Given the description of an element on the screen output the (x, y) to click on. 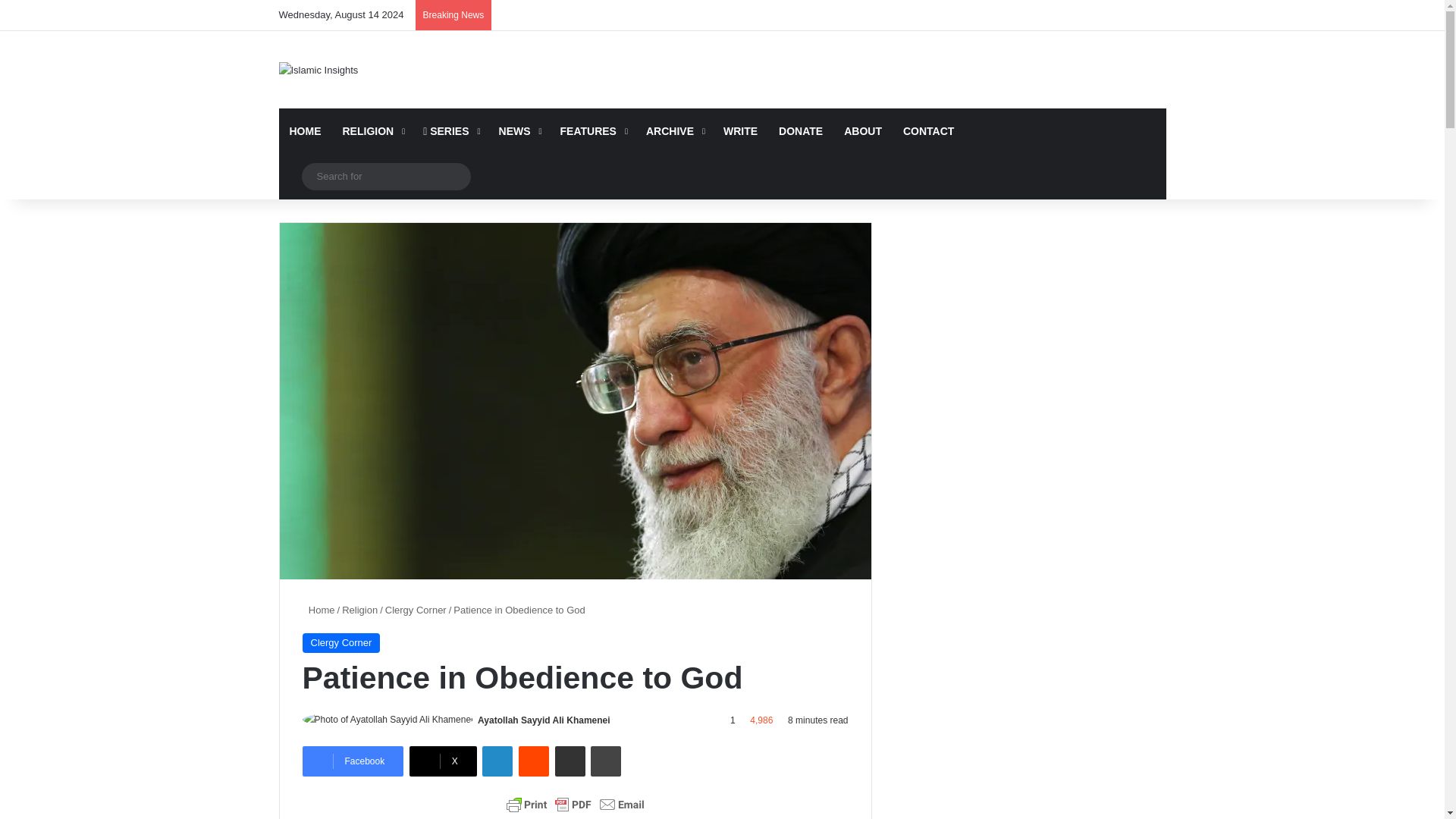
Print (606, 761)
SERIES (449, 130)
X (443, 761)
Islamic Insights (318, 69)
LinkedIn (496, 761)
ARCHIVE (673, 130)
HOME (305, 130)
Ayatollah Sayyid Ali Khamenei (543, 719)
Search for (385, 176)
Reddit (533, 761)
